Given the description of an element on the screen output the (x, y) to click on. 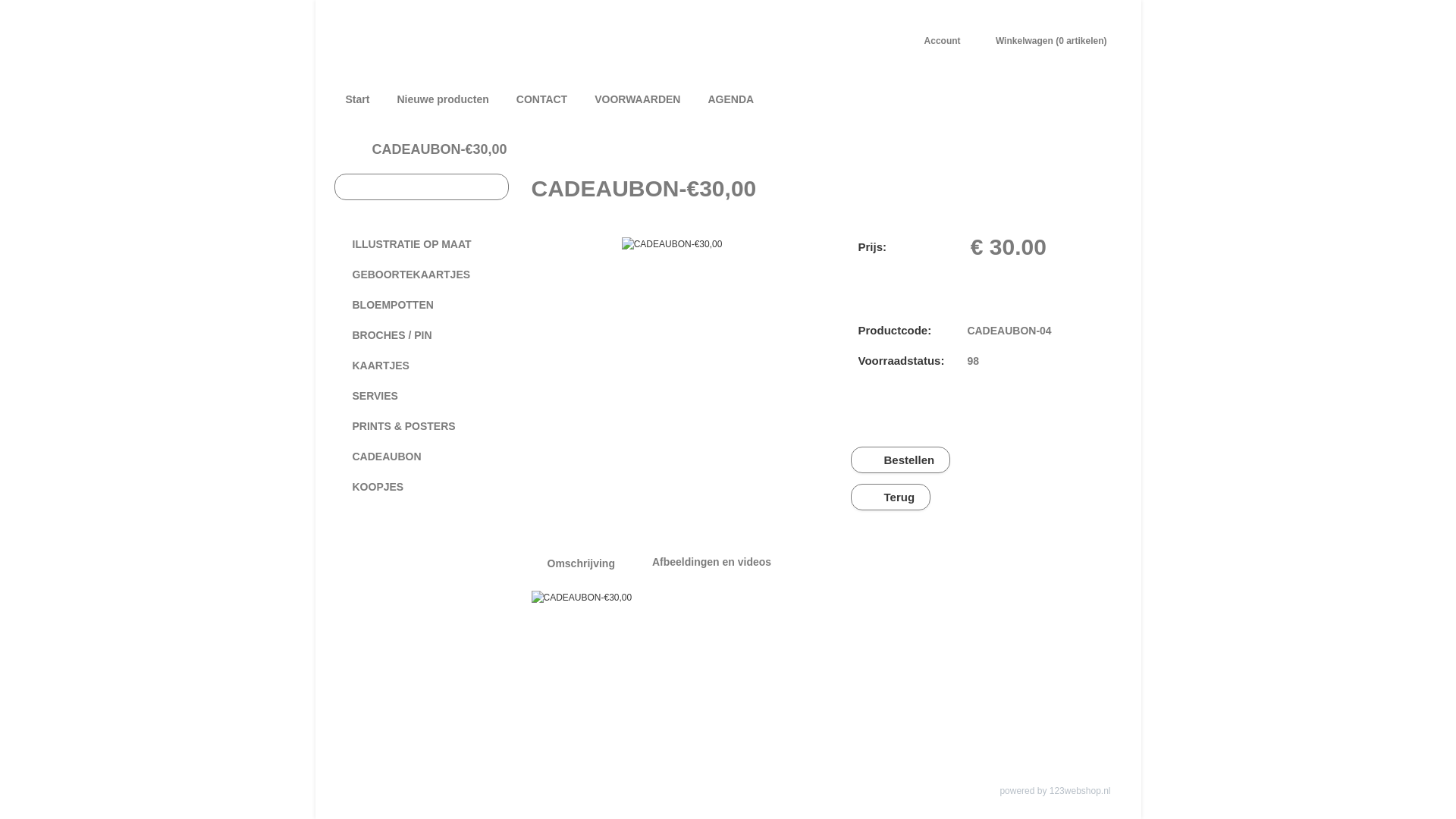
GEBOORTEKAARTJES Element type: text (420, 273)
powered by 123webshop.nl Element type: text (1054, 790)
Afbeeldingen en videos Element type: text (711, 562)
Winkelwagen (0 artikelen) Element type: text (1046, 40)
BROCHES / PIN Element type: text (420, 334)
Nieuwe producten Element type: text (442, 98)
Account Element type: text (937, 40)
ILLUSTRATIE OP MAAT Element type: text (420, 243)
Bestellen Element type: text (898, 459)
BLOEMPOTTEN Element type: text (420, 304)
Start Element type: text (357, 98)
CONTACT Element type: text (541, 98)
VOORWAARDEN Element type: text (637, 98)
Terug Element type: text (888, 496)
KOOPJES Element type: text (420, 486)
CADEAUBON Element type: text (420, 455)
PRINTS & POSTERS Element type: text (420, 425)
Omschrijving Element type: text (580, 563)
SERVIES Element type: text (420, 395)
AGENDA Element type: text (730, 98)
Zoeken Element type: hover (493, 186)
KAARTJES Element type: text (420, 364)
